Given the description of an element on the screen output the (x, y) to click on. 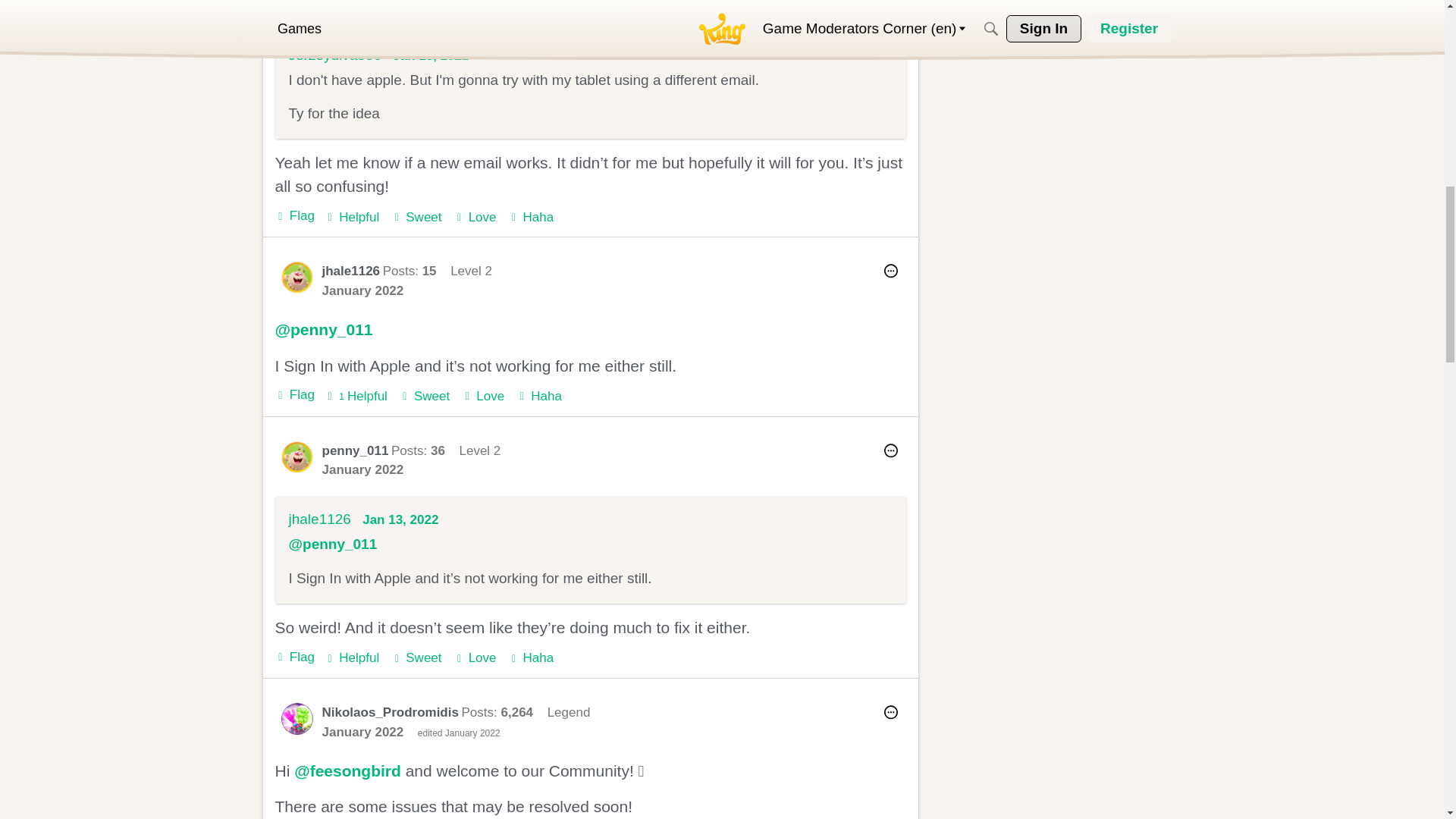
Flag (294, 216)
January 2022 (362, 6)
January 12, 2022 9:44PM (362, 6)
Thursday, January 13, 2022 at 5:37 AM (430, 55)
Flag (294, 216)
Jerzeydiva856 (334, 54)
Jan 13, 2022 (430, 55)
